Given the description of an element on the screen output the (x, y) to click on. 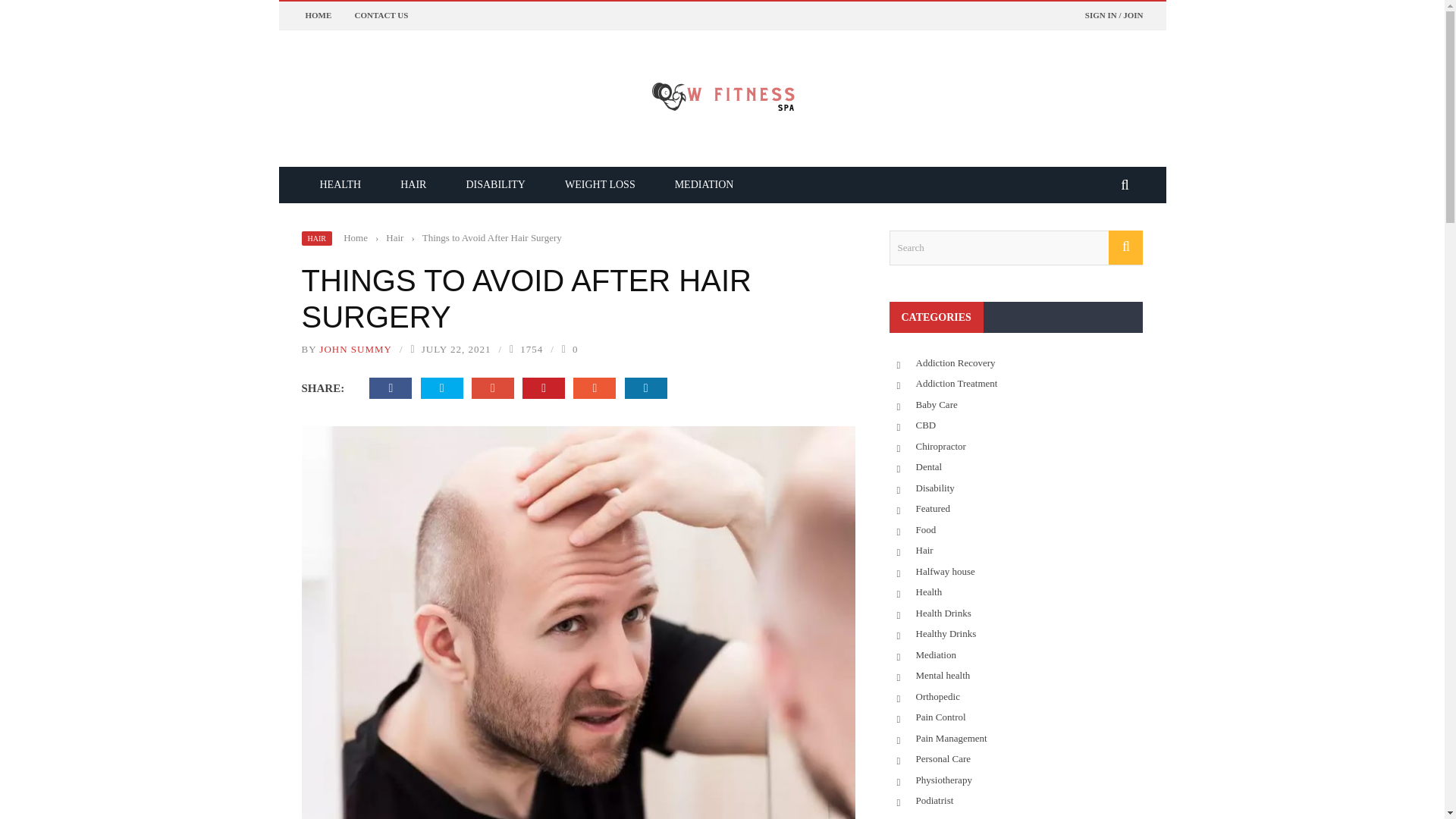
HEALTH (340, 184)
Home (355, 237)
MEDIATION (704, 184)
CONTACT US (382, 14)
HOME (317, 14)
HAIR (316, 237)
Hair (394, 237)
DISABILITY (494, 184)
Search (1015, 247)
WEIGHT LOSS (600, 184)
